Given the description of an element on the screen output the (x, y) to click on. 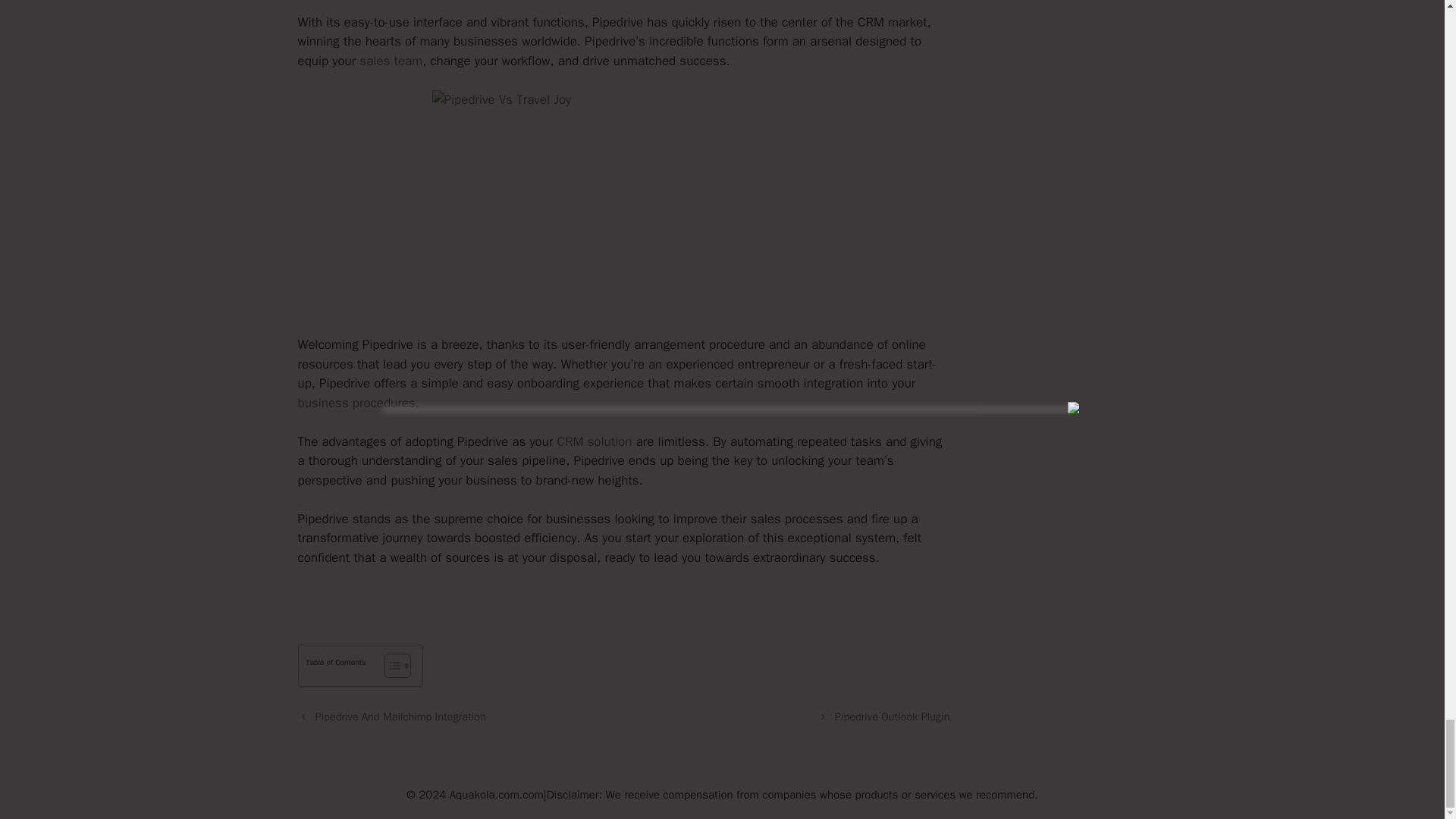
sales team (390, 60)
Pipedrive Outlook Plugin (892, 716)
Pipedrive And Mailchimp Integration (400, 716)
CRM solution (593, 441)
business procedures (355, 402)
